Given the description of an element on the screen output the (x, y) to click on. 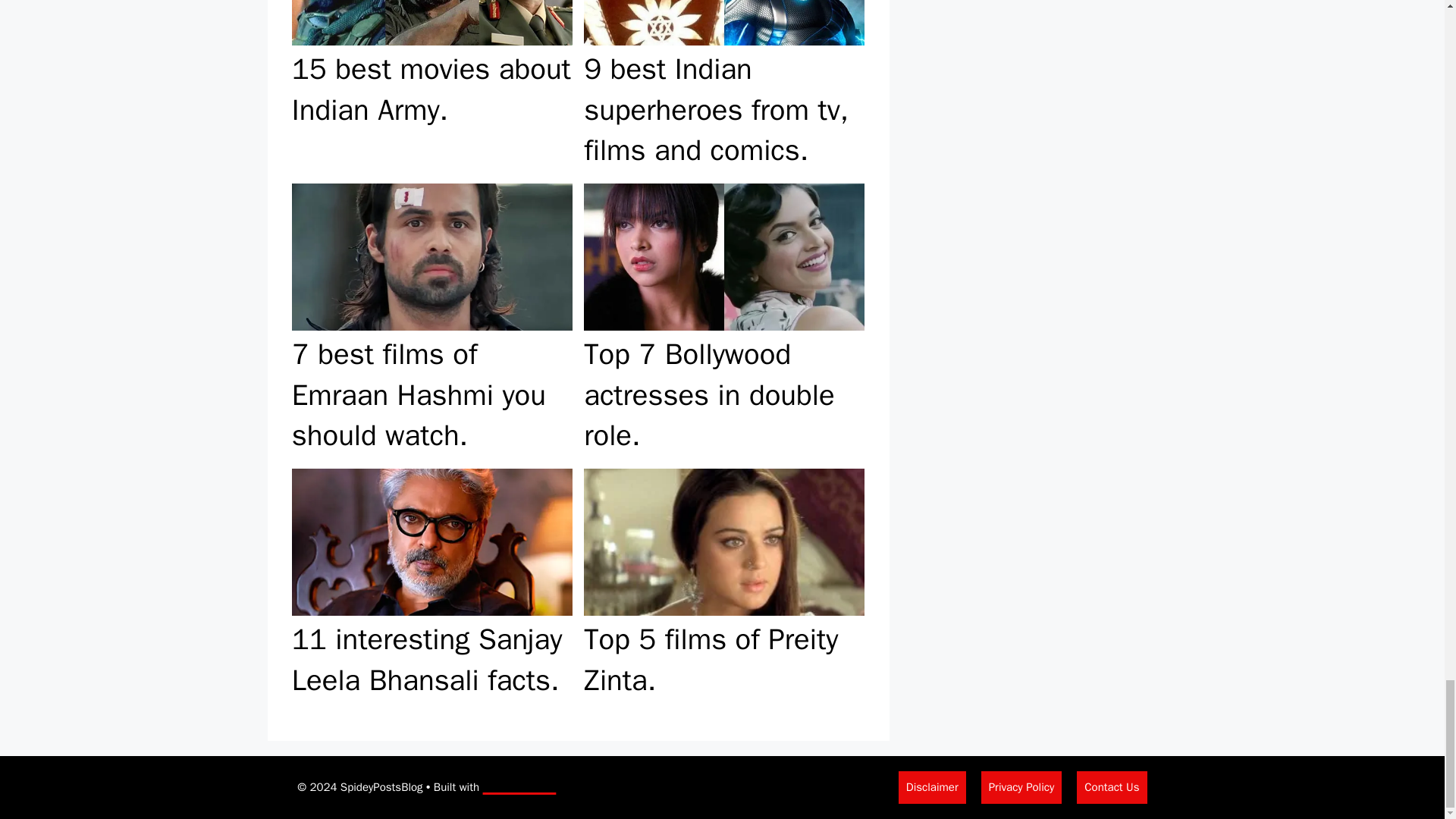
Top 7 Bollywood actresses in double role. (723, 319)
9 best Indian superheroes from tv, films and comics. (723, 88)
Top 5 films of Preity Zinta. (723, 584)
7 best films of Emraan Hashmi you should watch. (431, 319)
11 interesting Sanjay Leela Bhansali facts. (431, 584)
15 best movies about Indian Army. (431, 88)
